Given the description of an element on the screen output the (x, y) to click on. 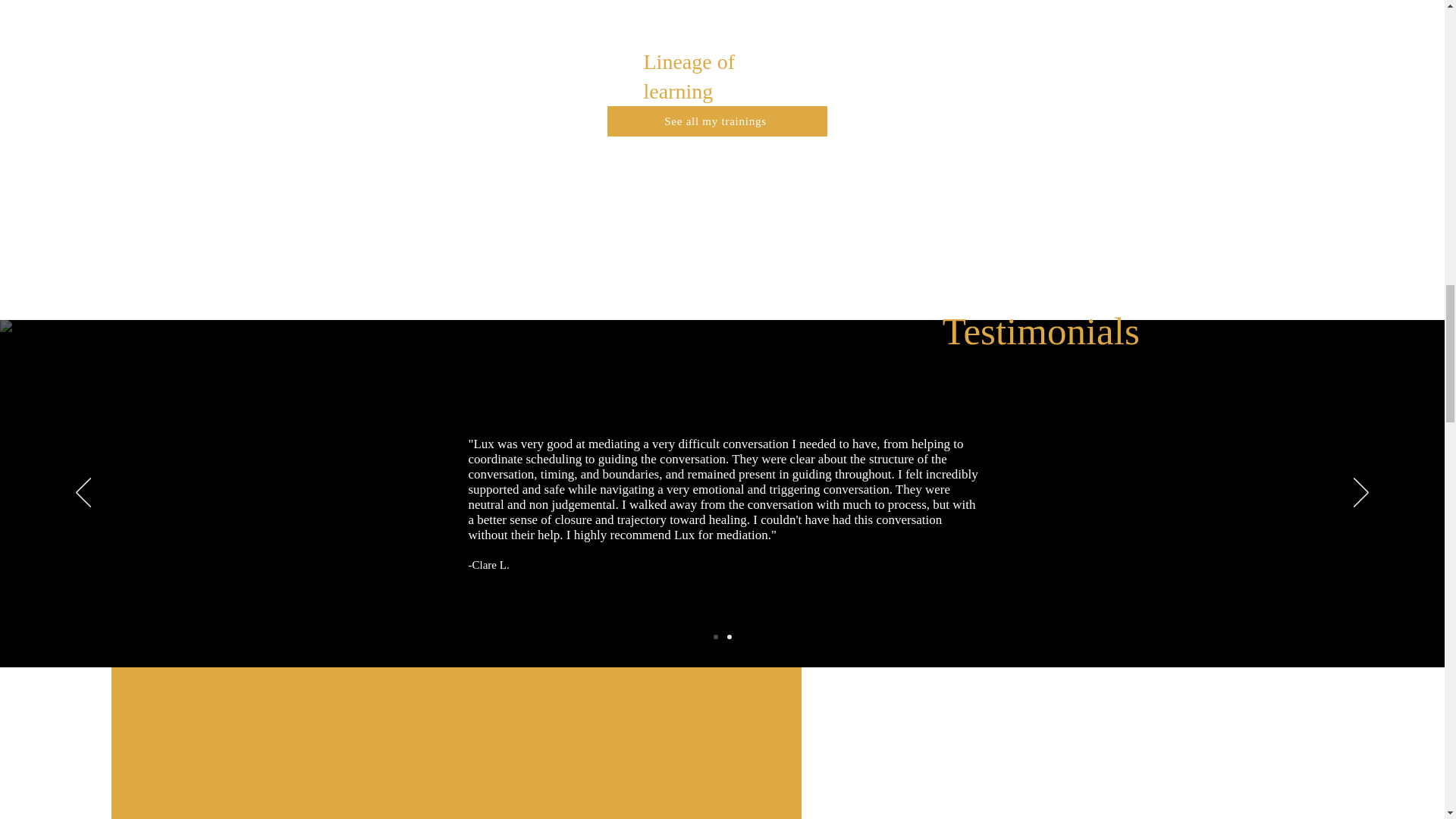
See all my trainings (717, 121)
